Given the description of an element on the screen output the (x, y) to click on. 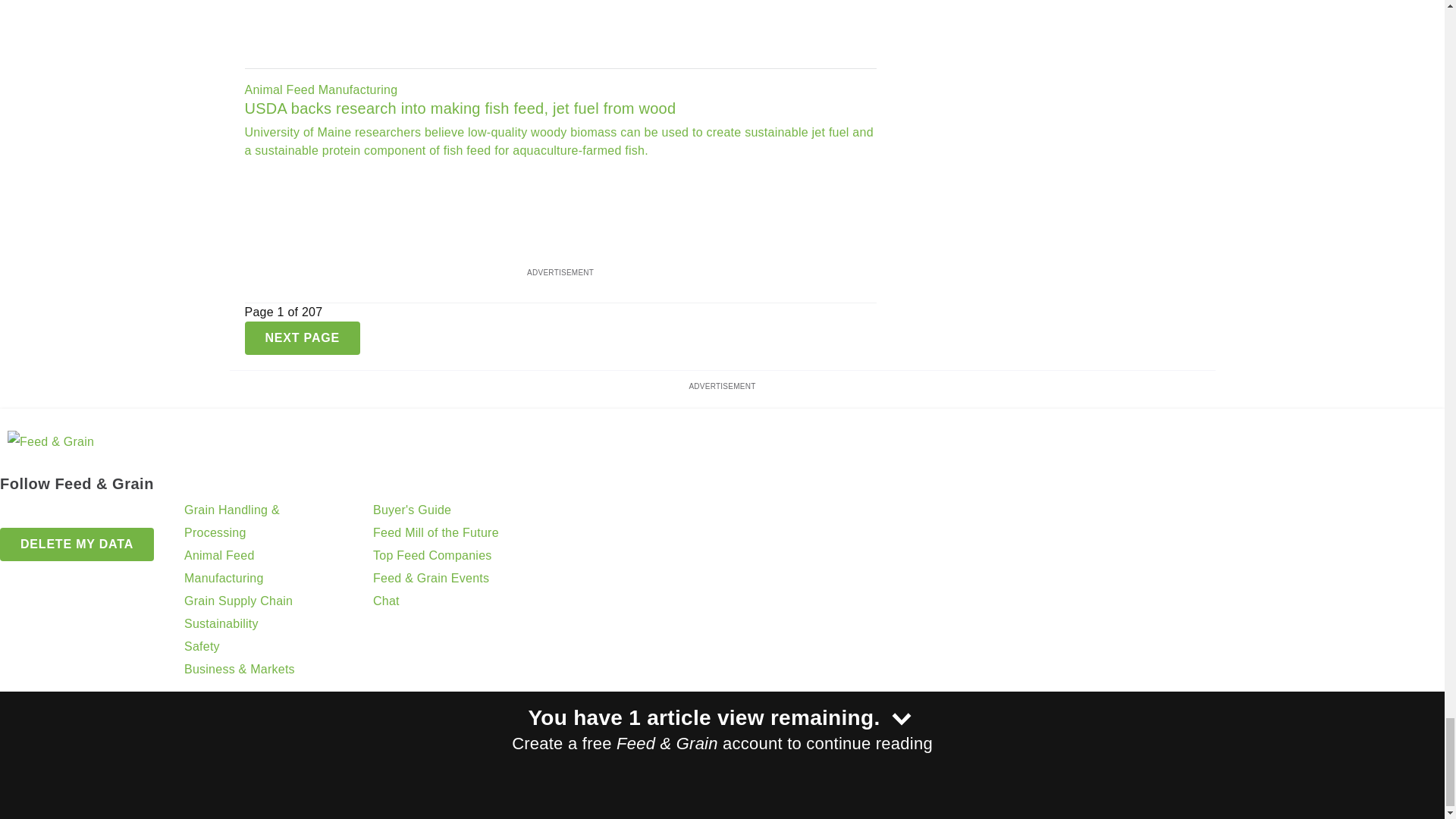
Facebook icon (13, 513)
LinkedIn icon (52, 513)
YouTube icon (90, 513)
